Given the description of an element on the screen output the (x, y) to click on. 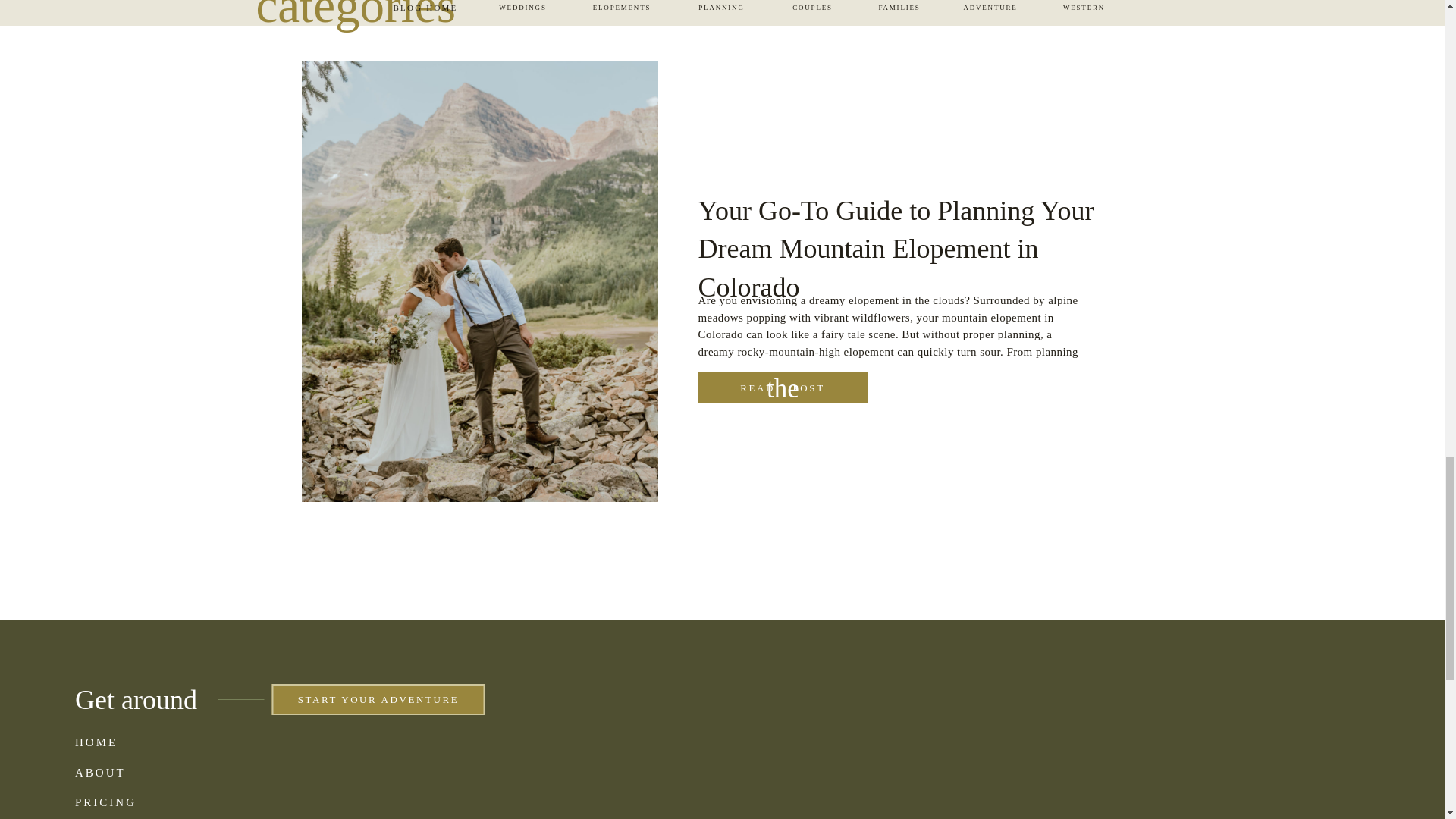
ADVENTURE (990, 7)
WESTERN (1083, 7)
